Given the description of an element on the screen output the (x, y) to click on. 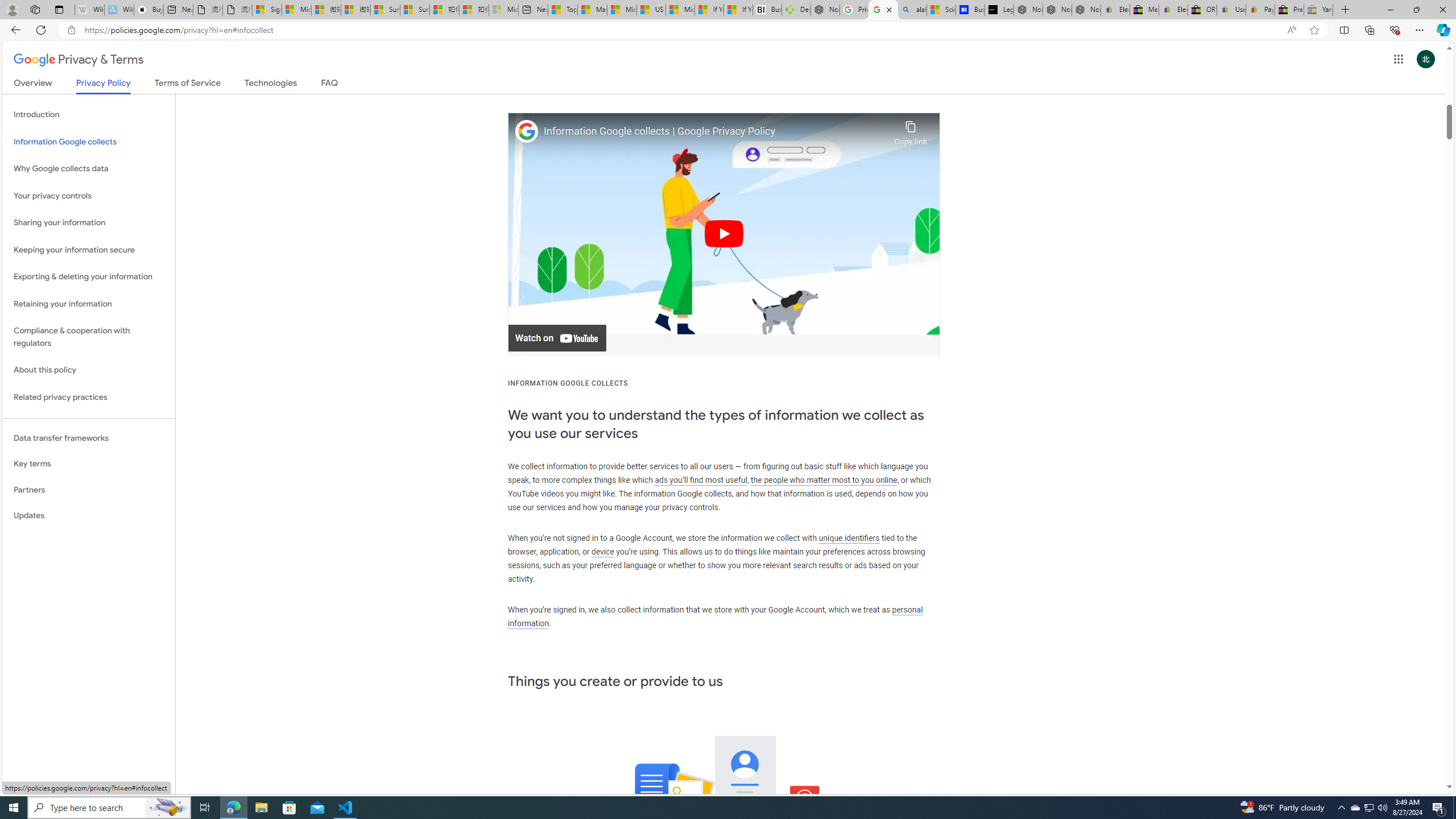
Buy iPad - Apple (148, 9)
Microsoft account | Account Checkup - Sleeping (502, 9)
Sign in to your Microsoft account (266, 9)
Microsoft Services Agreement (295, 9)
